Given the description of an element on the screen output the (x, y) to click on. 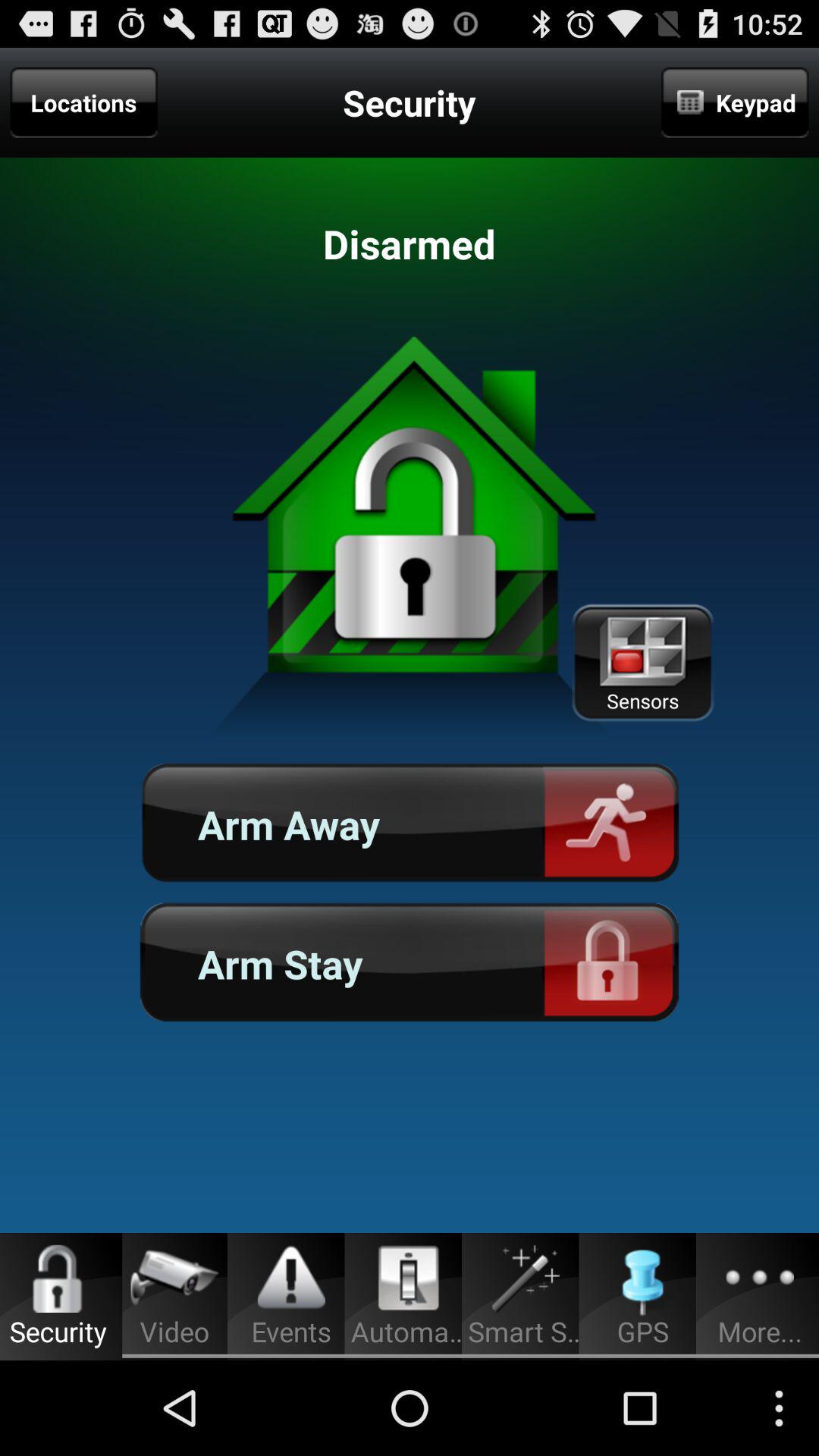
open item above the sensors item (734, 102)
